Given the description of an element on the screen output the (x, y) to click on. 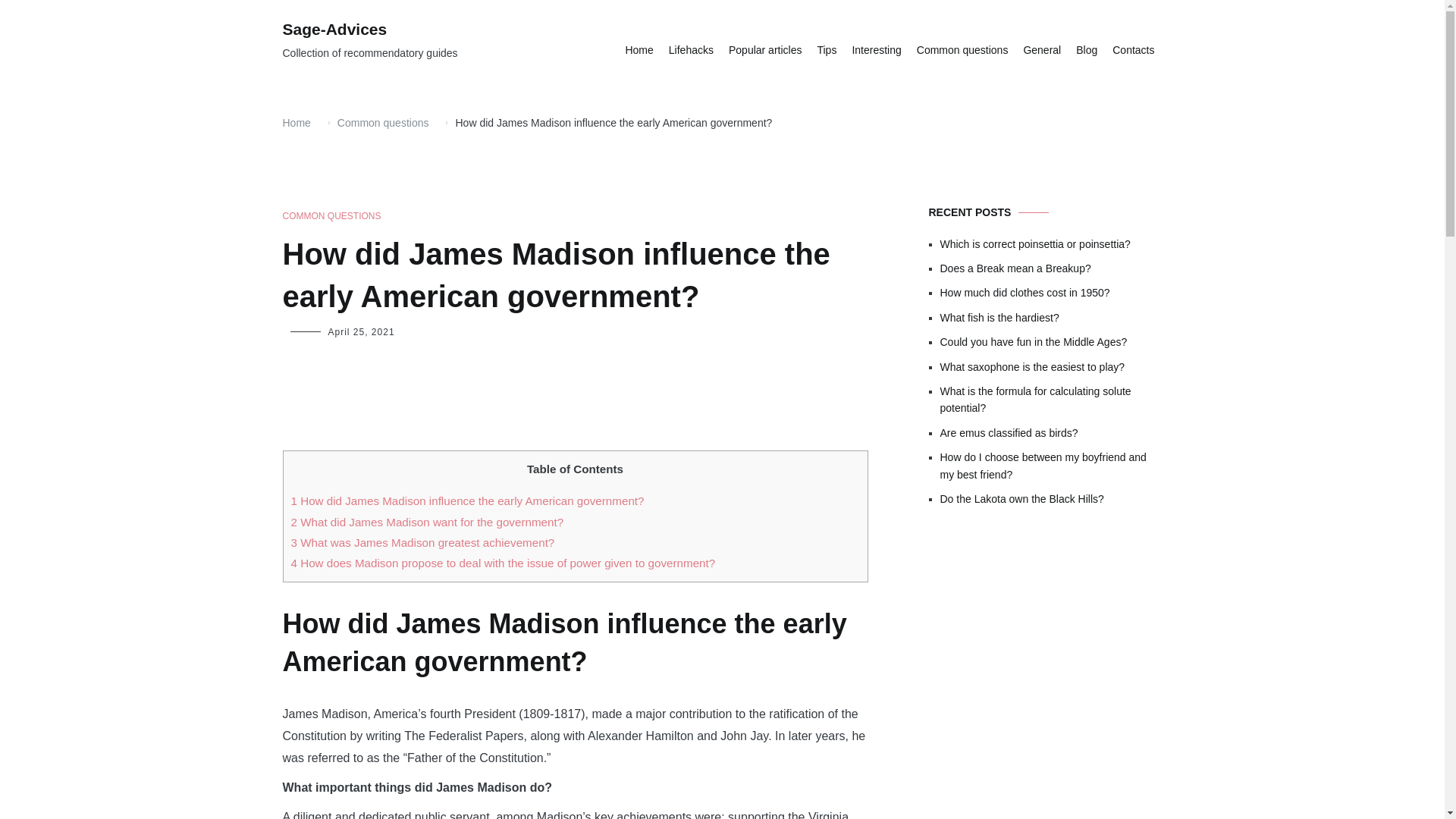
Common questions (383, 122)
3 What was James Madison greatest achievement? (422, 542)
What saxophone is the easiest to play? (1050, 366)
April 25, 2021 (360, 331)
2 What did James Madison want for the government? (427, 521)
What fish is the hardiest? (1050, 317)
Contacts (1133, 49)
Interesting (876, 49)
Does a Break mean a Breakup? (1050, 268)
General (1042, 49)
Which is correct poinsettia or poinsettia? (1050, 243)
Sage-Advices (334, 28)
Lifehacks (690, 49)
COMMON QUESTIONS (331, 216)
